Given the description of an element on the screen output the (x, y) to click on. 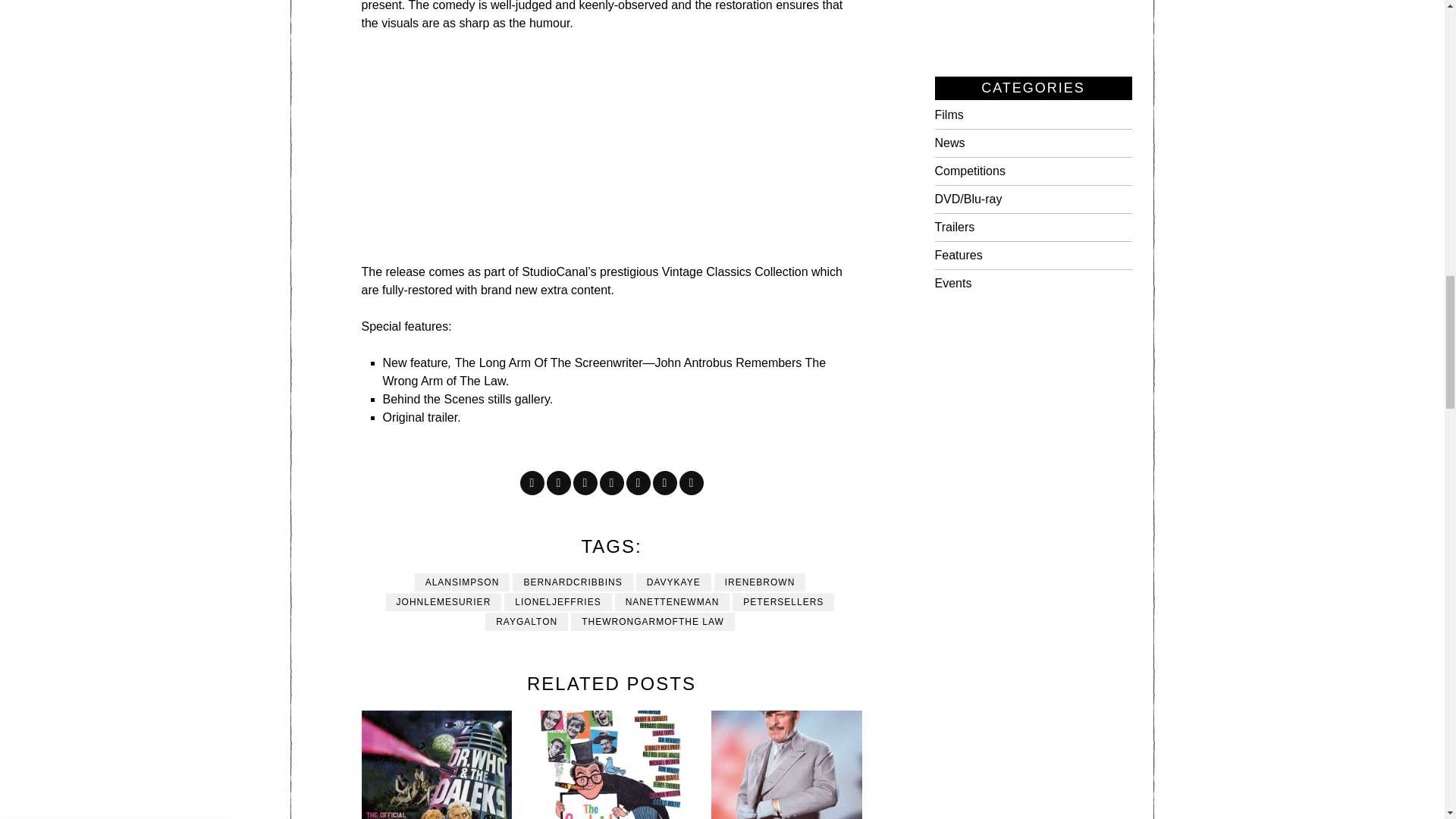
PETERSELLERS (783, 601)
BERNARDCRIBBINS (571, 582)
Events (952, 282)
IRENEBROWN (760, 582)
NANETTENEWMAN (672, 601)
Advertisement (634, 156)
LIONELJEFFRIES (557, 601)
THEWRONGARMOFTHE LAW (652, 621)
JOHNLEMESURIER (443, 601)
DAVYKAYE (673, 582)
